Given the description of an element on the screen output the (x, y) to click on. 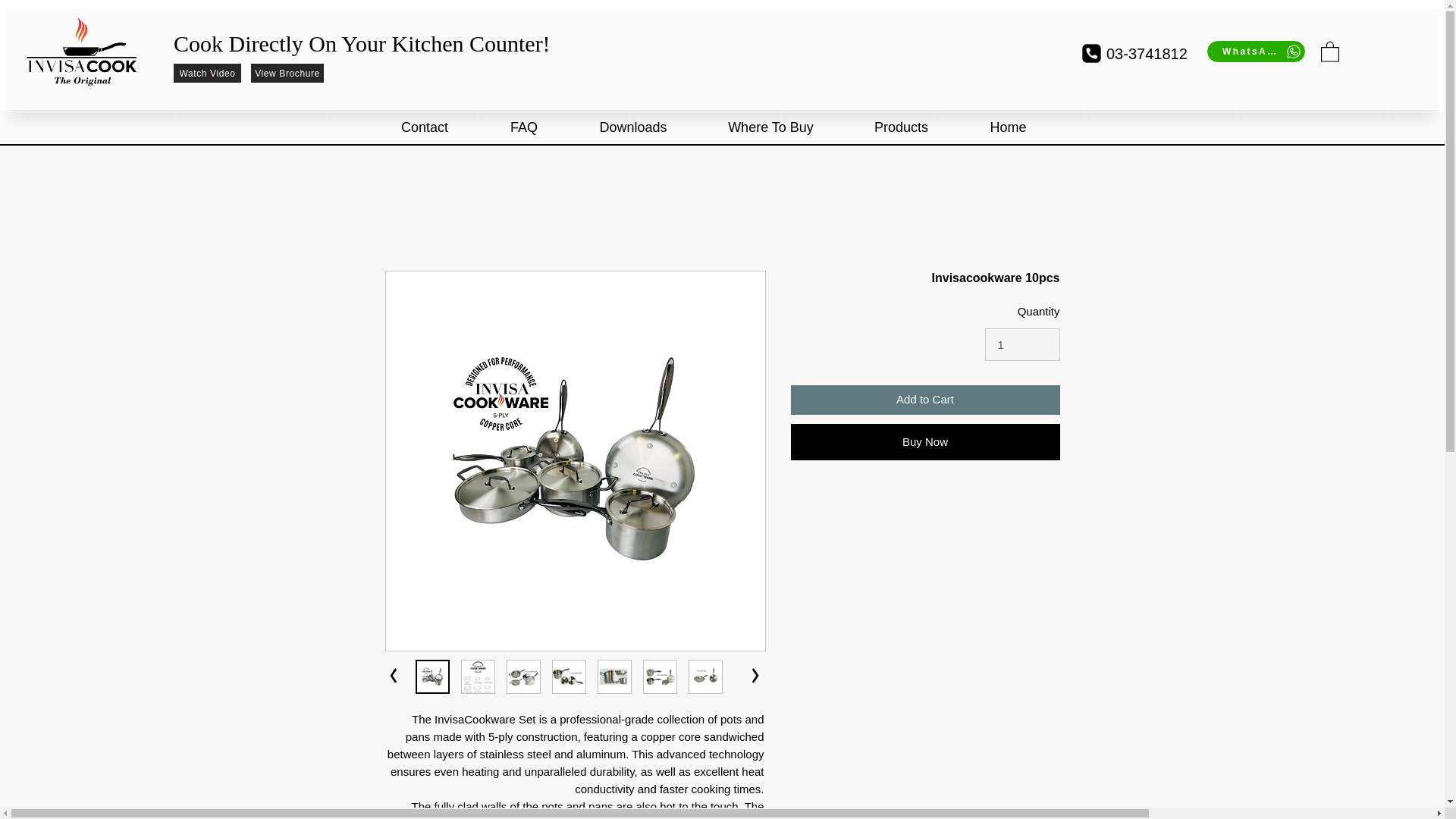
Contact (424, 127)
Watch Video (207, 72)
Downloads (633, 127)
Add to Cart (924, 399)
Buy Now (924, 442)
Products (900, 127)
View Brochure (1046, 70)
Watch Video (966, 70)
WhatsApp (1256, 51)
1 (1022, 344)
FAQ (523, 127)
View Brochure (286, 72)
Where To Buy (770, 127)
Home (1007, 127)
